Given the description of an element on the screen output the (x, y) to click on. 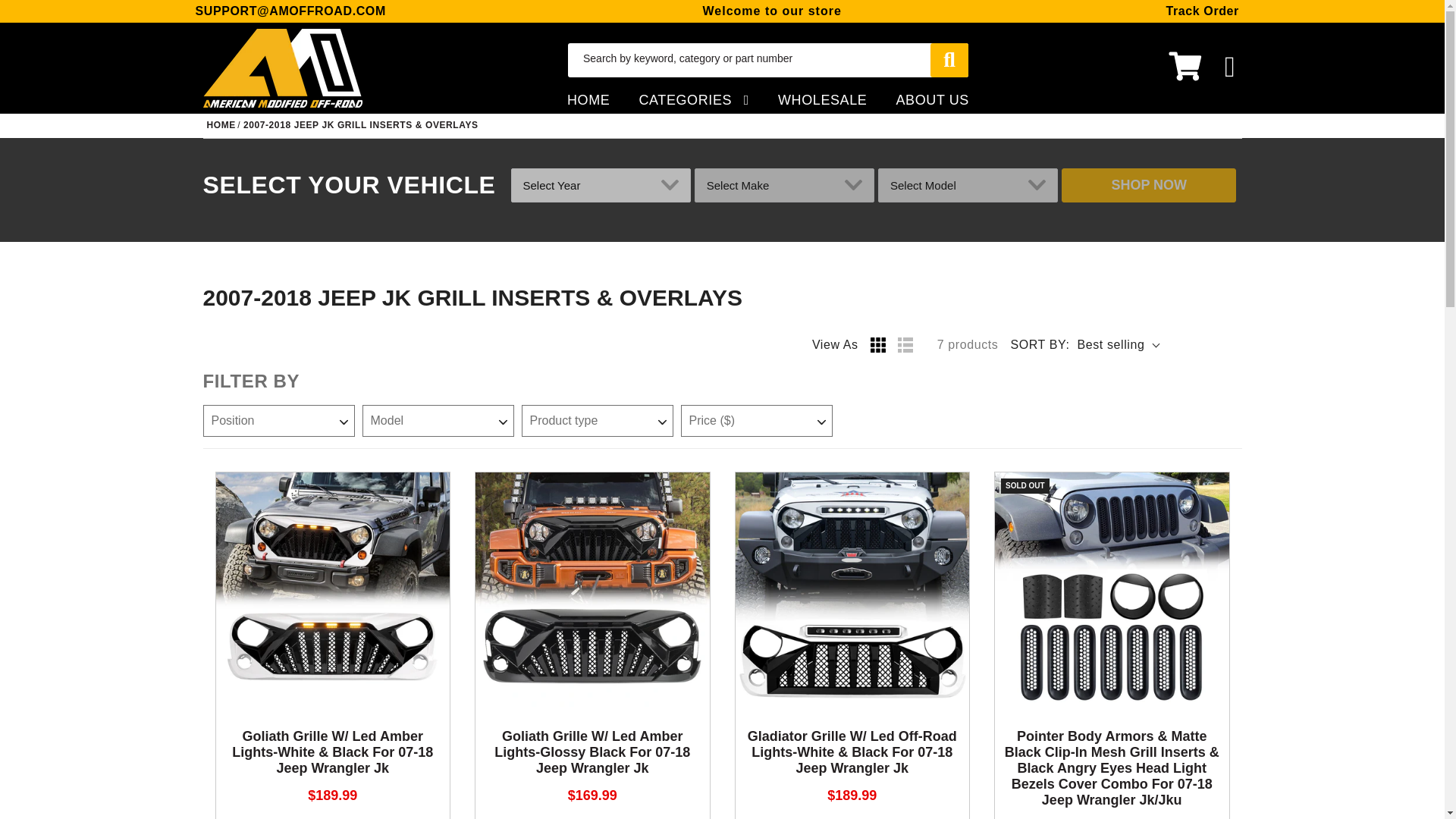
Track Order (1202, 10)
Opens a widget where you can find more information (1376, 792)
